Given the description of an element on the screen output the (x, y) to click on. 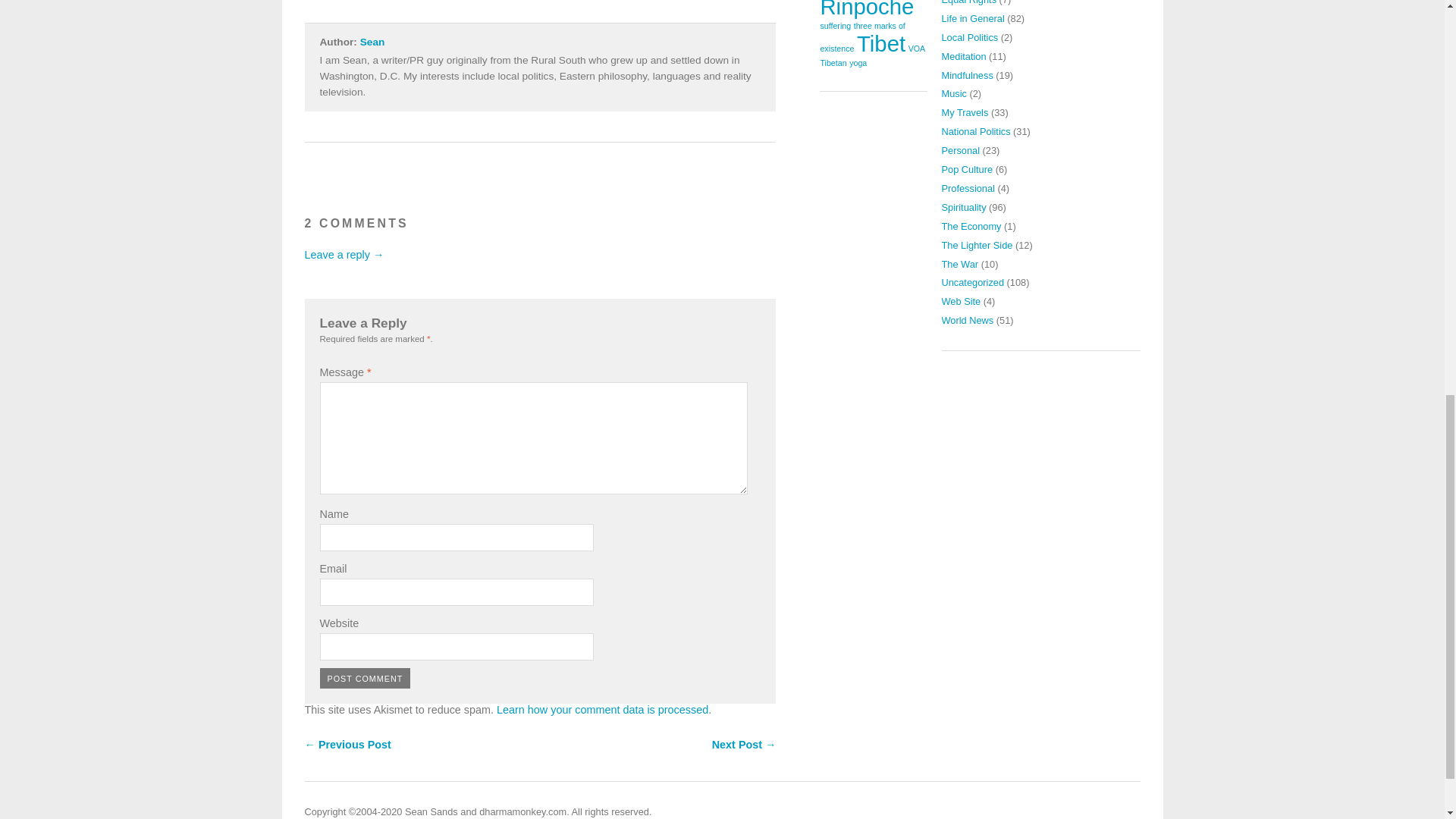
Sean (372, 41)
Learn how your comment data is processed (601, 709)
Post Comment (365, 678)
Post Comment (365, 678)
Sean (372, 41)
